Given the description of an element on the screen output the (x, y) to click on. 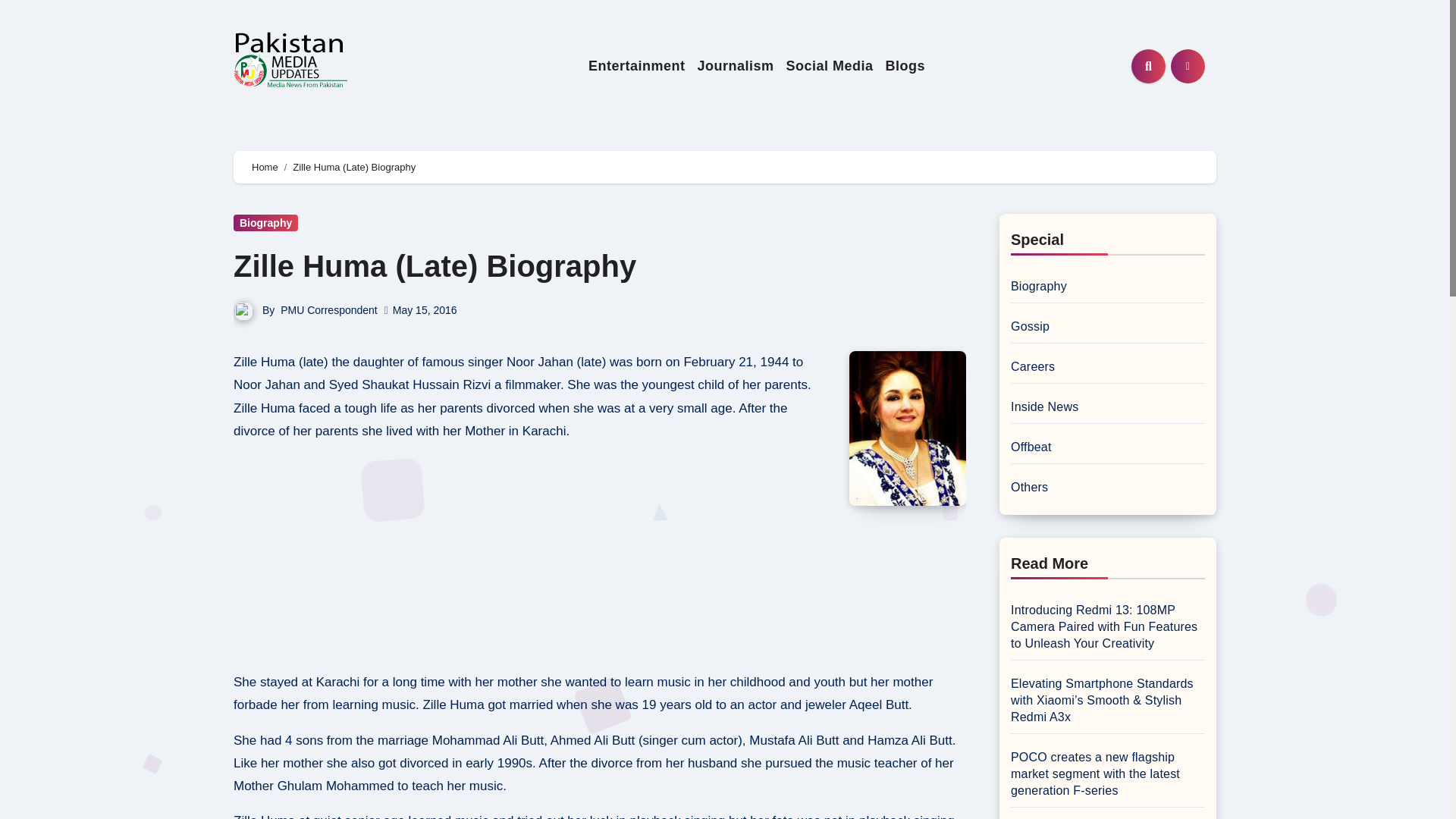
Social Media (828, 66)
Entertainment (636, 66)
Journalism (734, 66)
May 15, 2016 (425, 309)
PMU Correspondent (329, 309)
Social Media (828, 66)
Blogs (905, 66)
Advertisement (533, 561)
Journalism (734, 66)
Home (264, 166)
Entertainment (636, 66)
Blogs (905, 66)
Biography (265, 222)
